Given the description of an element on the screen output the (x, y) to click on. 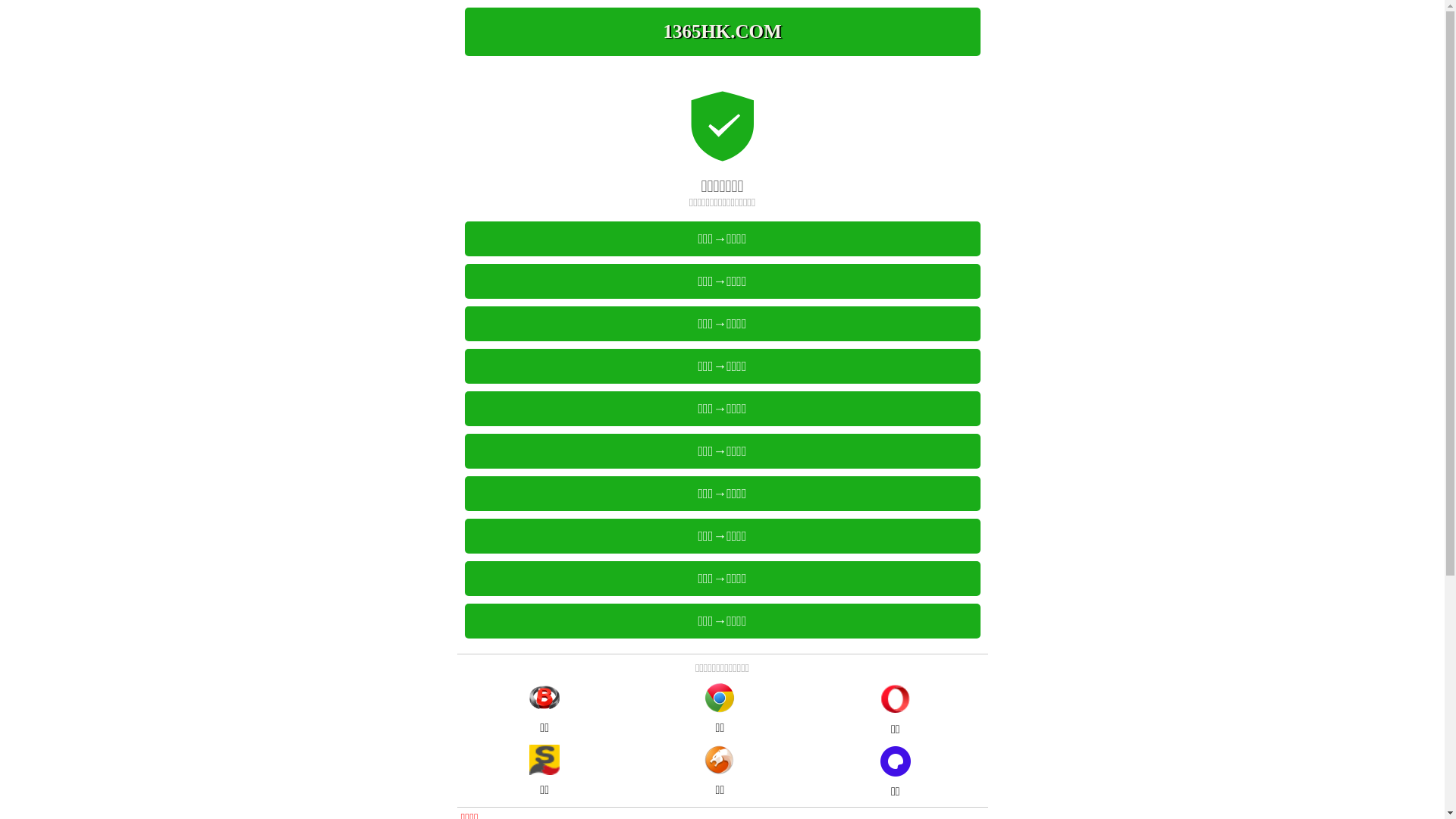
1365HK.COM Element type: text (721, 31)
